Given the description of an element on the screen output the (x, y) to click on. 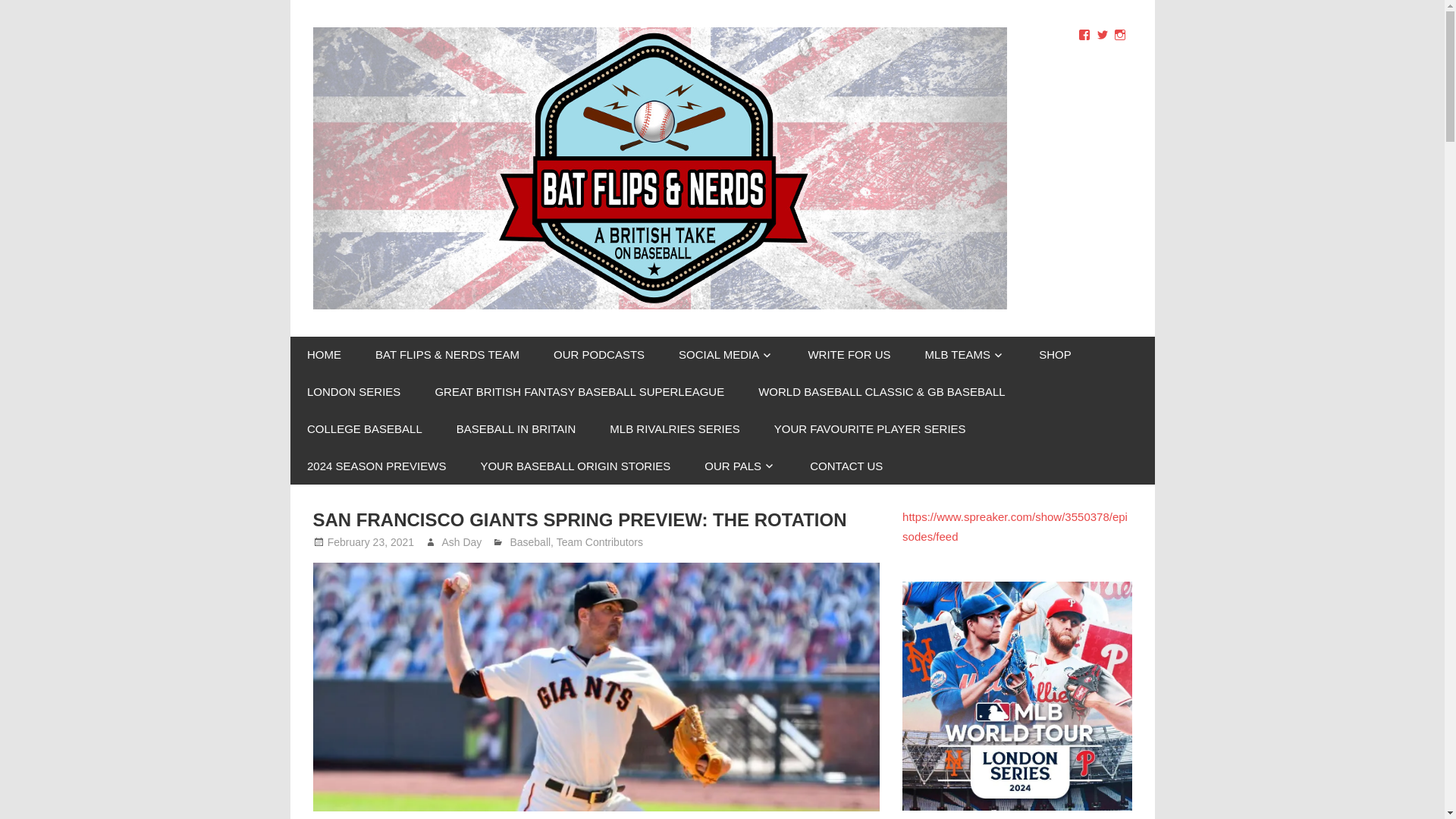
View all posts by Ash Day (461, 541)
SOCIAL MEDIA (726, 354)
WRITE FOR US (848, 354)
MLB TEAMS (964, 354)
HOME (323, 354)
OUR PODCASTS (599, 354)
8:00 pm (370, 541)
